Given the description of an element on the screen output the (x, y) to click on. 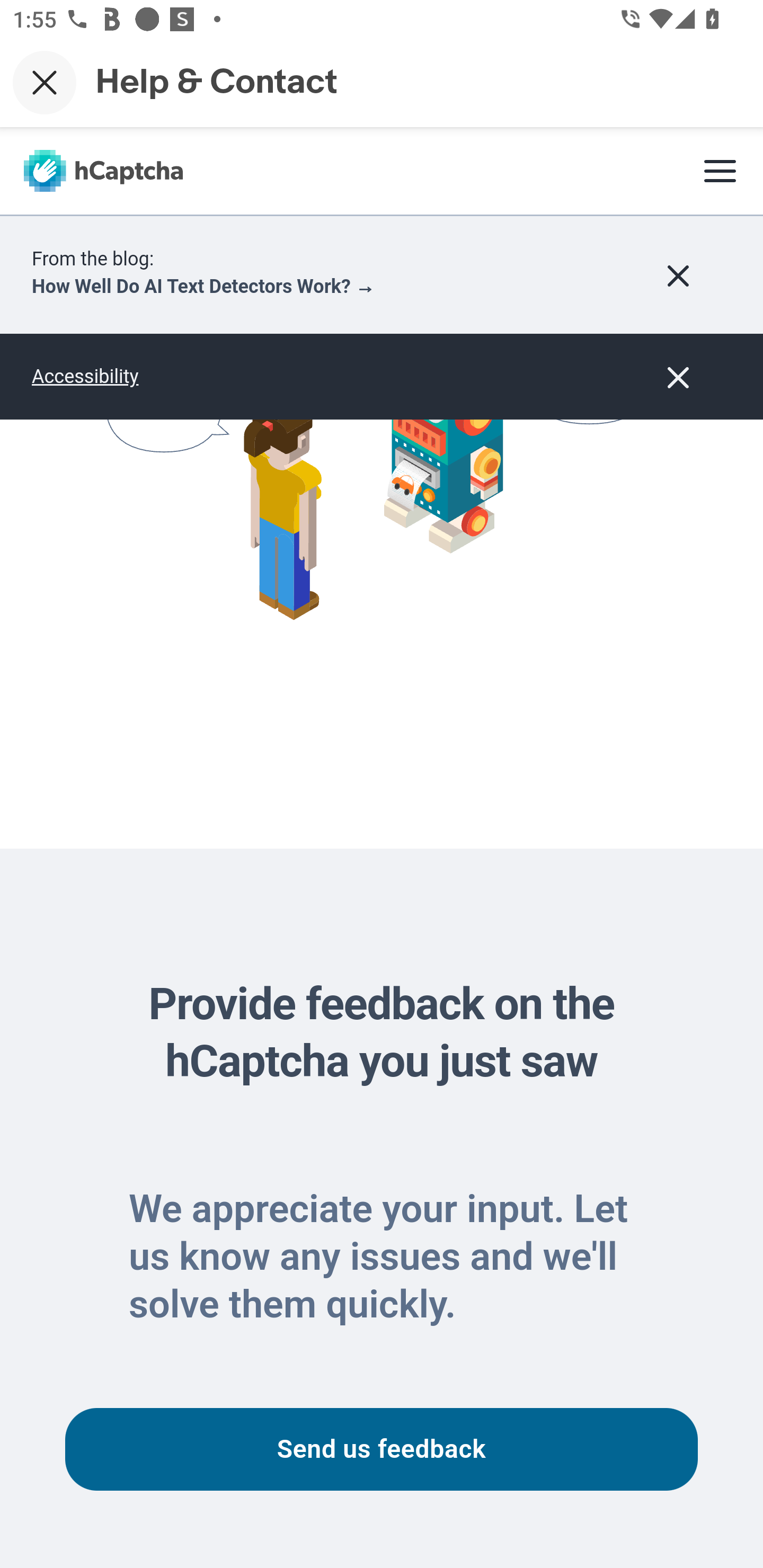
Close (44, 82)
hCaptcha home page hCaptcha logo (horizontal) (103, 171)
How Well Do AI Text Detectors Work? → (203, 287)
Send us feedback (381, 1450)
